Given the description of an element on the screen output the (x, y) to click on. 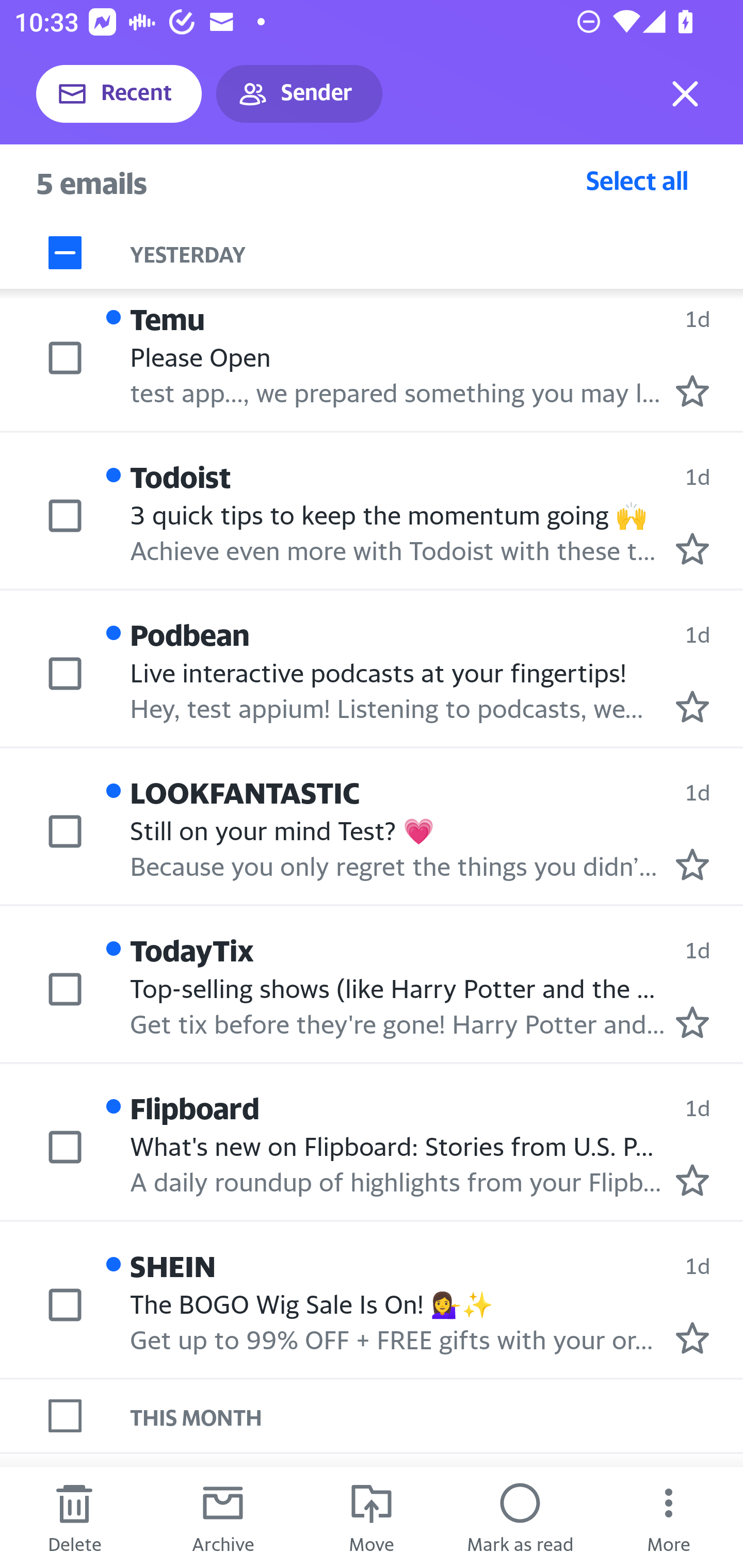
Sender (299, 93)
Exit selection mode (684, 93)
Select all (637, 180)
Mark as starred. (692, 391)
Mark as starred. (692, 548)
Mark as starred. (692, 706)
Mark as starred. (692, 864)
Mark as starred. (692, 1021)
Mark as starred. (692, 1179)
Mark as starred. (692, 1338)
THIS MONTH (436, 1414)
Delete (74, 1517)
Archive (222, 1517)
Move (371, 1517)
Mark as read (519, 1517)
More (668, 1517)
